Given the description of an element on the screen output the (x, y) to click on. 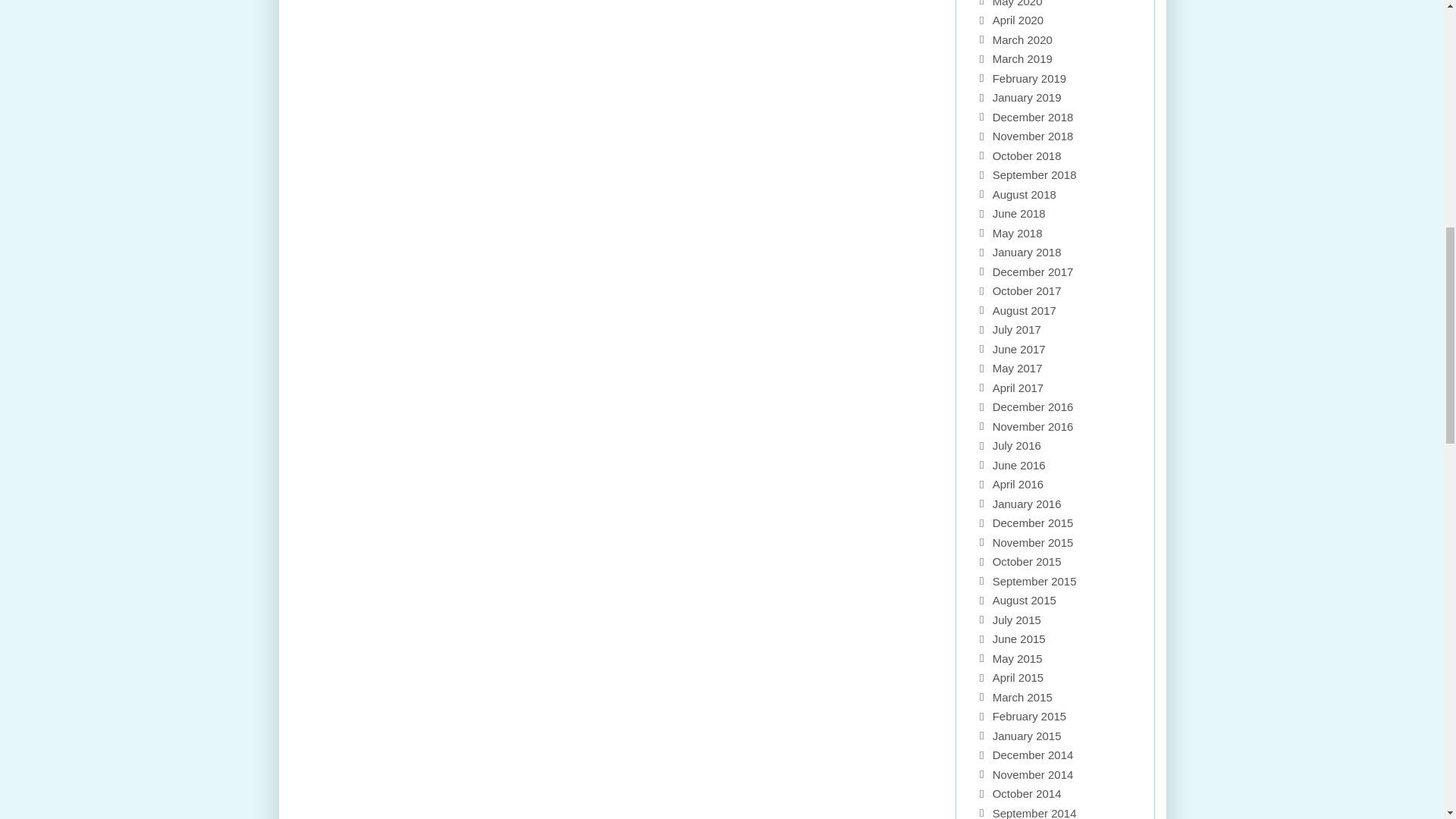
September 2018 (1034, 174)
August 2018 (1024, 194)
December 2018 (1033, 116)
November 2018 (1033, 135)
January 2019 (1026, 97)
March 2019 (1022, 58)
March 2020 (1022, 39)
June 2018 (1018, 213)
May 2020 (1017, 3)
April 2020 (1017, 19)
October 2018 (1026, 155)
February 2019 (1029, 78)
